Given the description of an element on the screen output the (x, y) to click on. 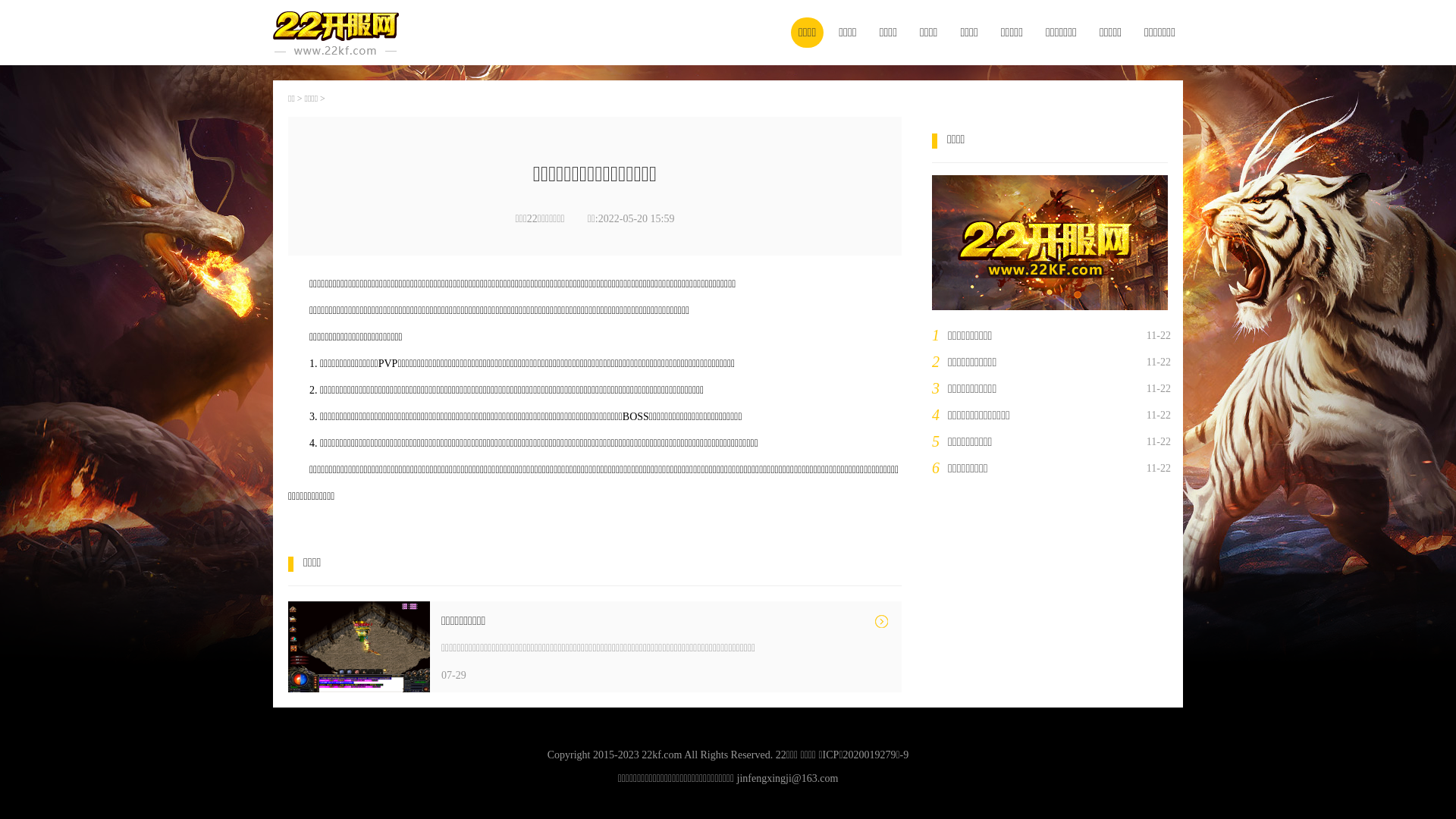
jinfengxingji@163.com Element type: text (787, 778)
